Given the description of an element on the screen output the (x, y) to click on. 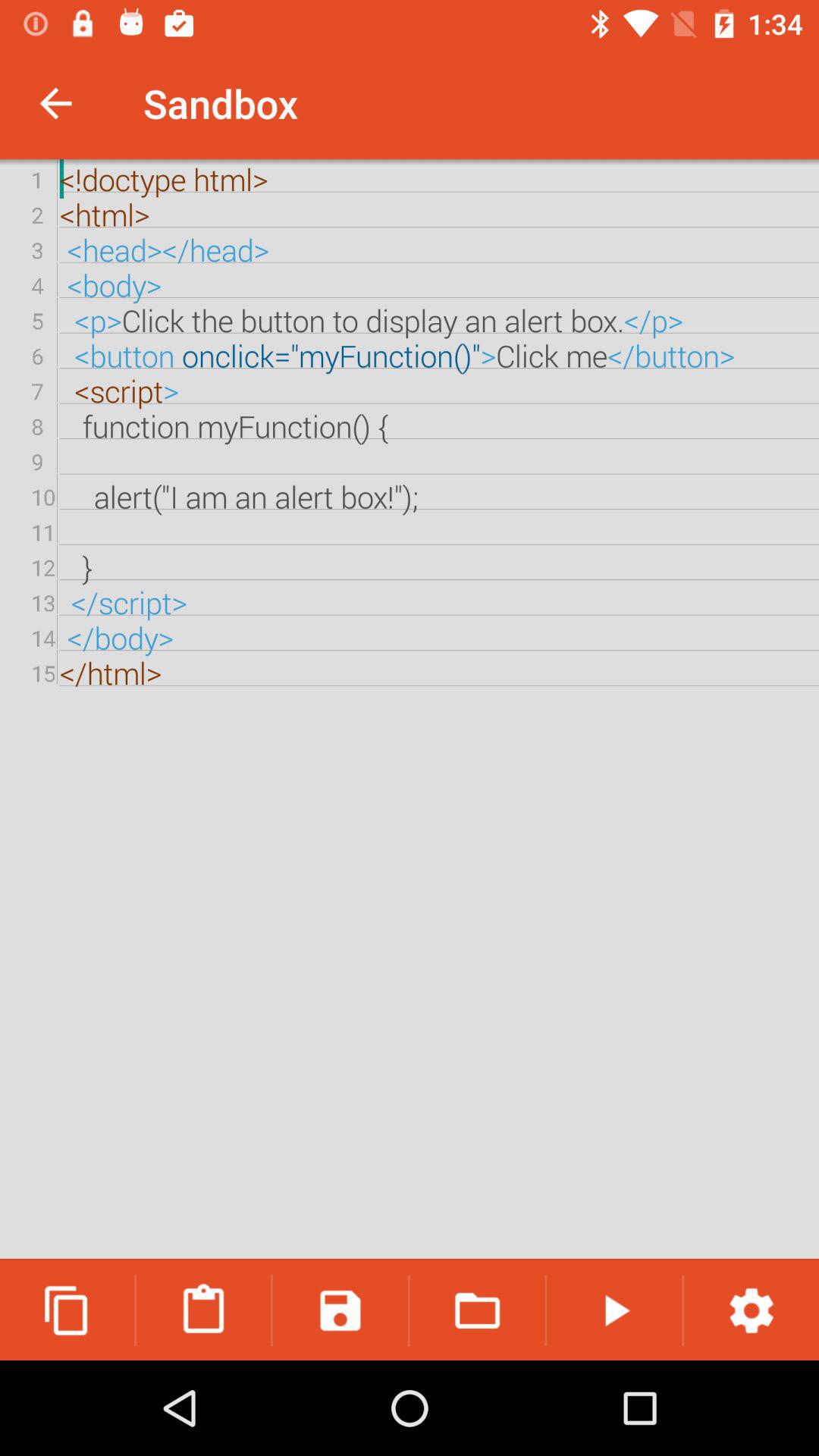
turn on app next to the sandbox (55, 103)
